Given the description of an element on the screen output the (x, y) to click on. 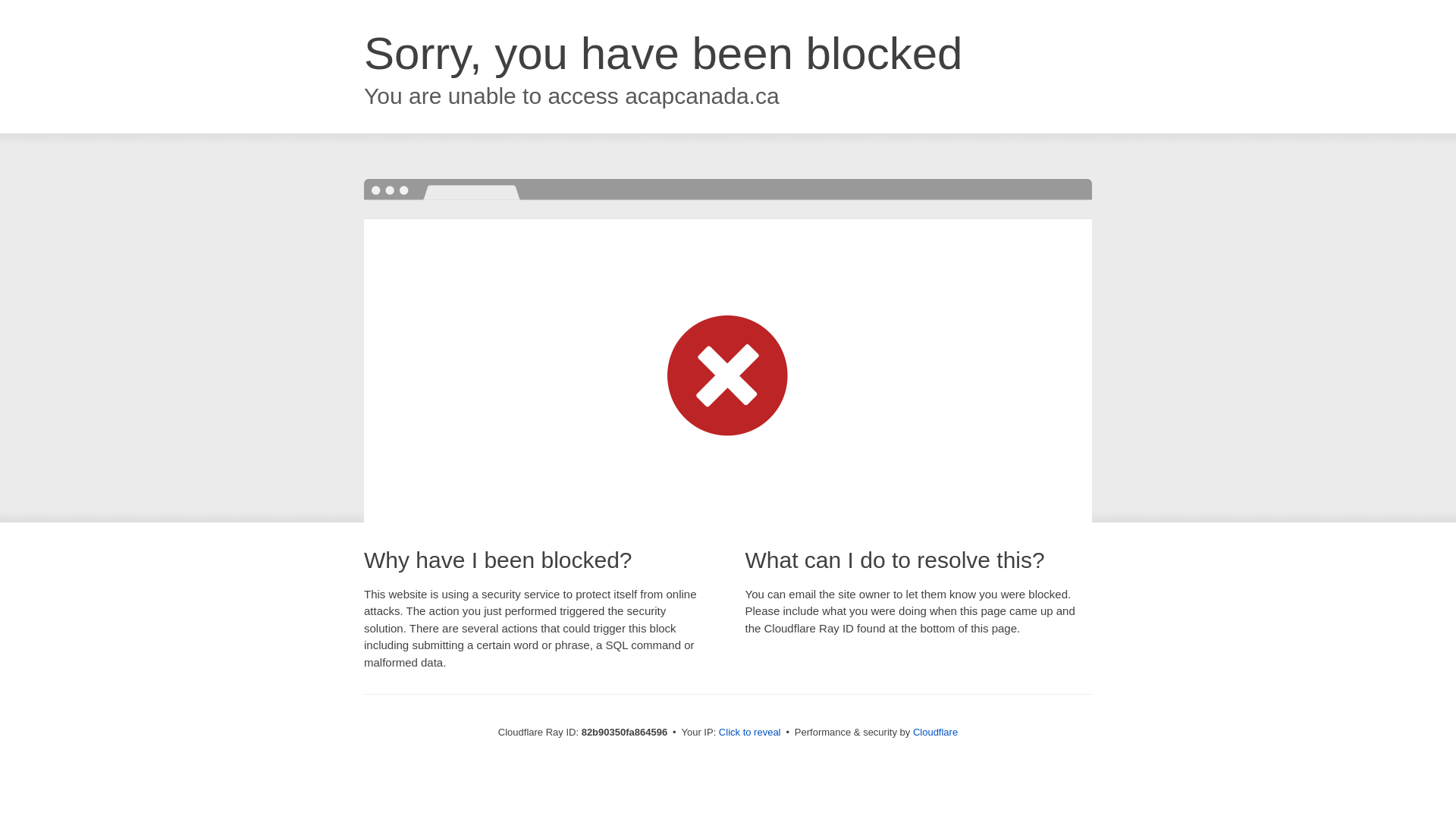
Click to reveal Element type: text (749, 732)
Cloudflare Element type: text (935, 731)
